Given the description of an element on the screen output the (x, y) to click on. 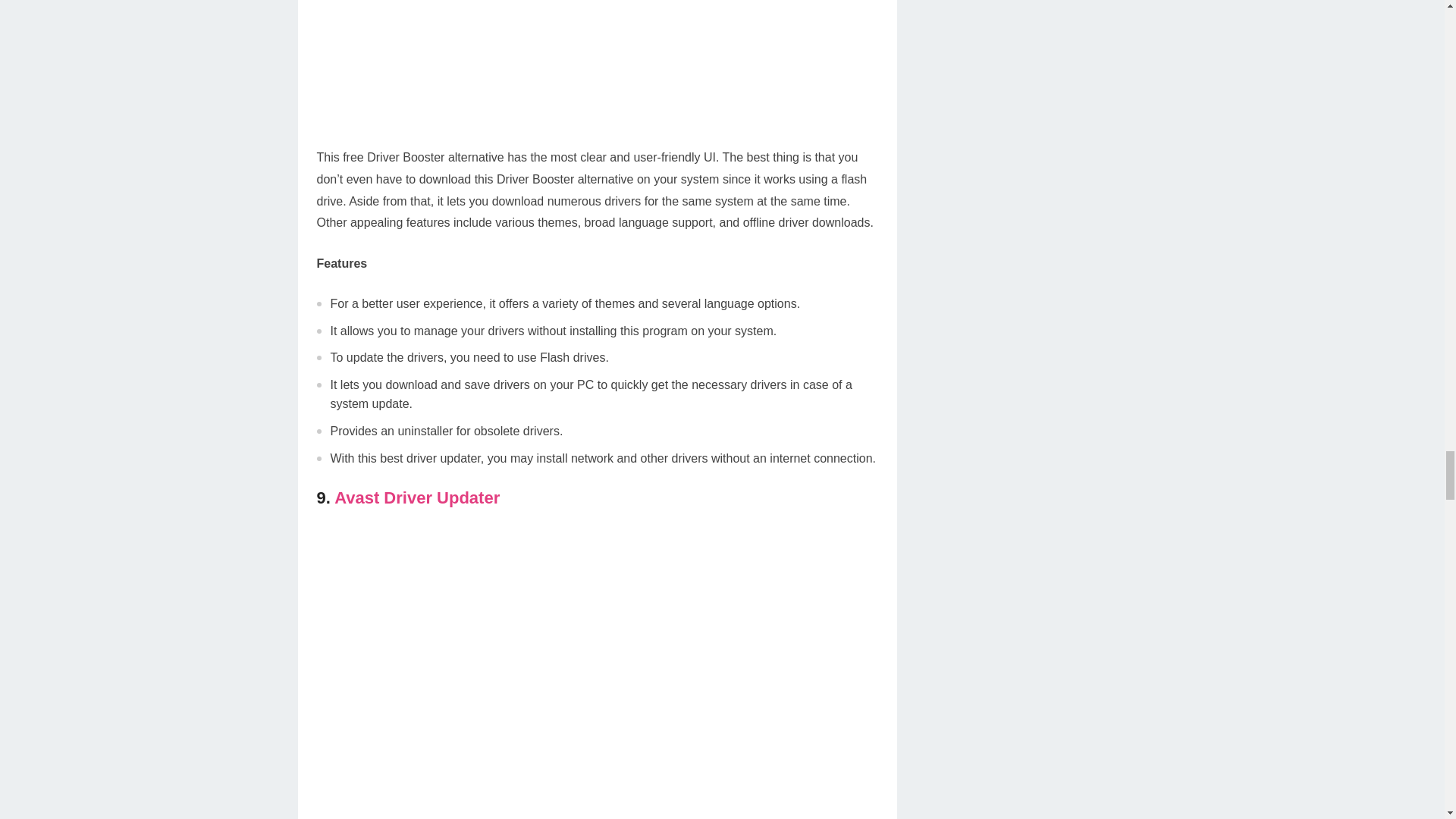
Avast Driver Updater (416, 497)
